Given the description of an element on the screen output the (x, y) to click on. 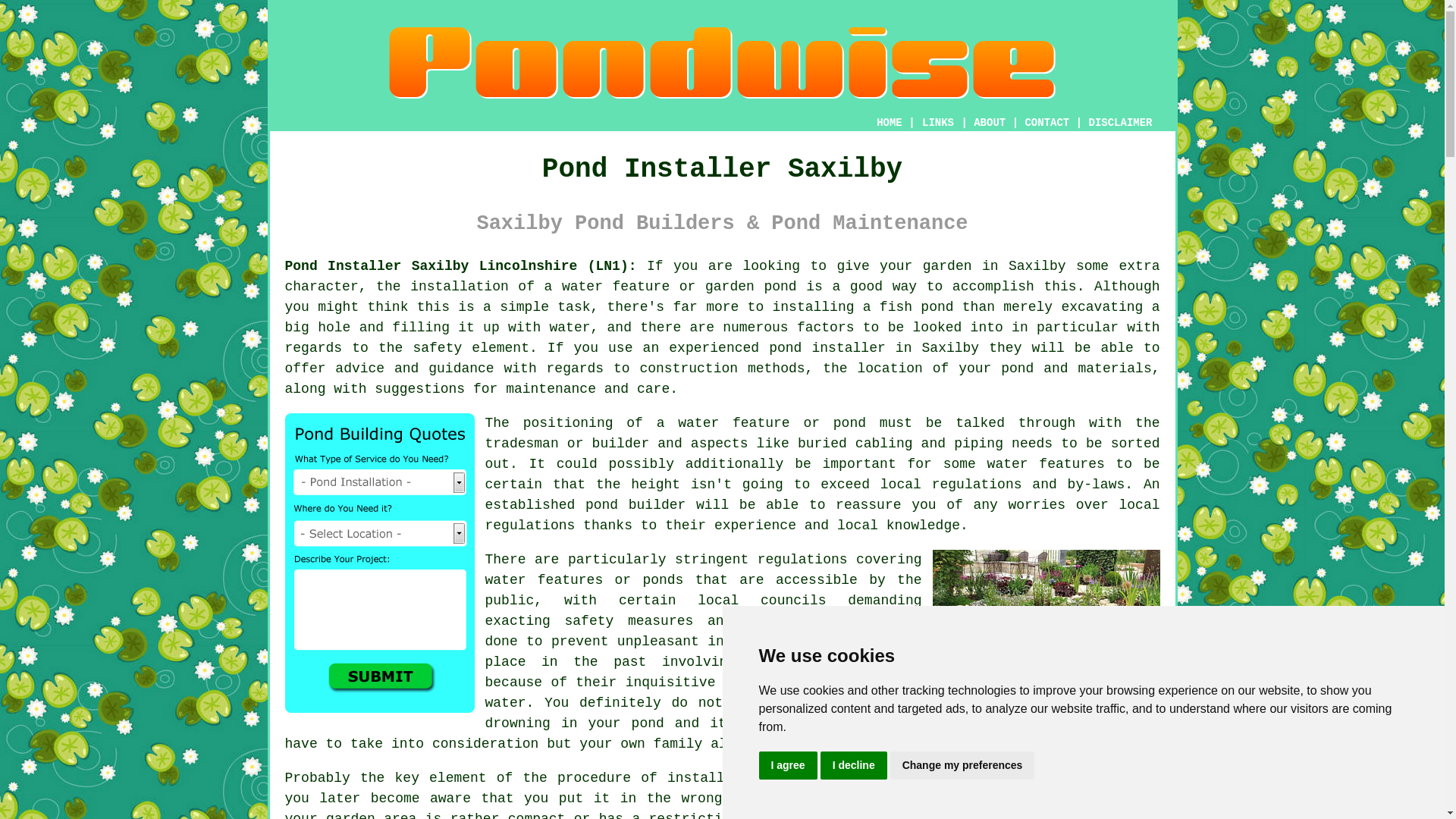
Pond Builders Saxilby (722, 62)
HOME (889, 122)
I decline (853, 765)
I agree (787, 765)
LINKS (938, 122)
pond (793, 777)
Change my preferences (962, 765)
